Given the description of an element on the screen output the (x, y) to click on. 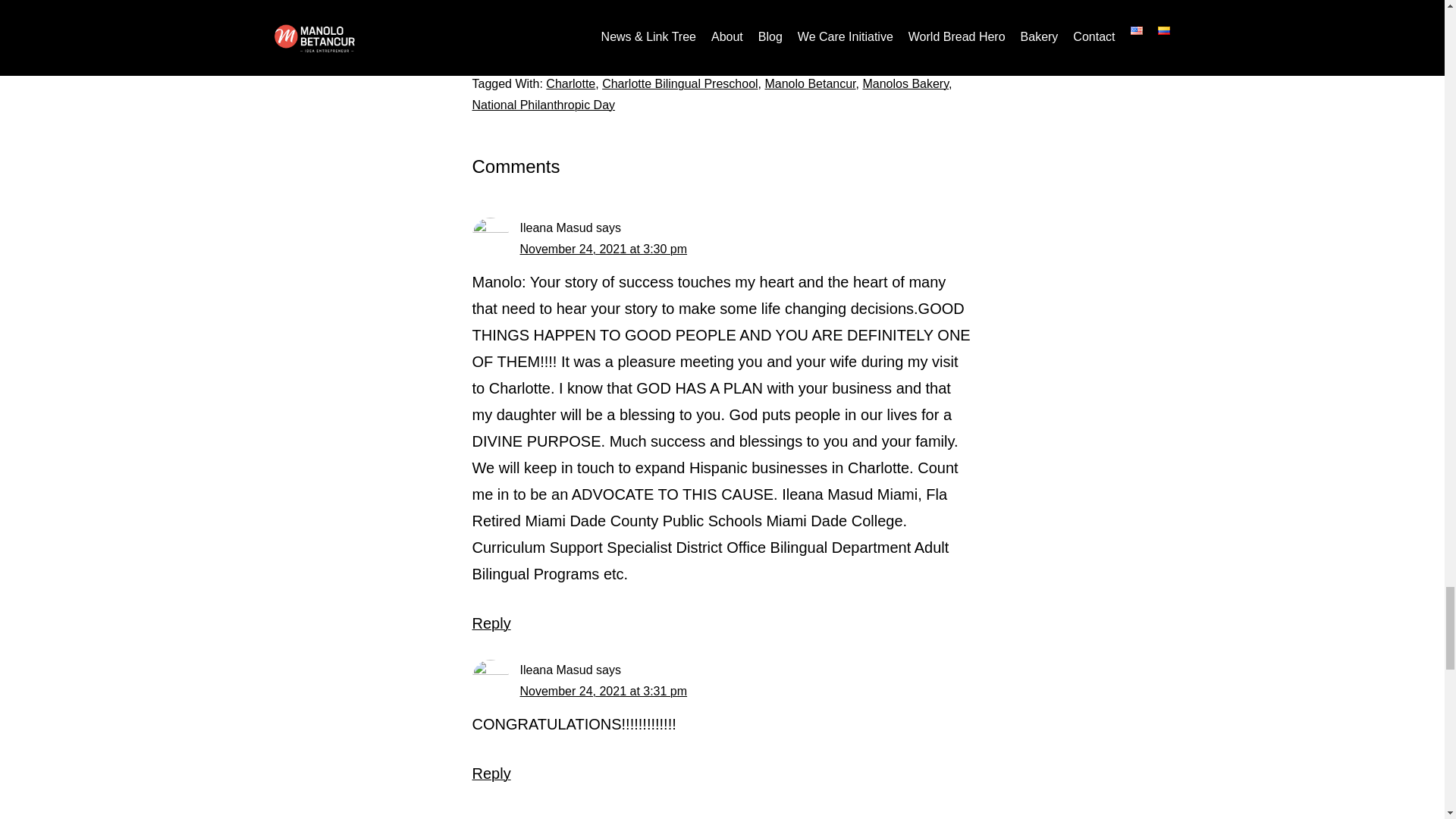
Speech (608, 62)
National Philanthropic Day (542, 104)
November 24, 2021 at 3:30 pm (603, 248)
Charlotte (570, 83)
Reply (491, 623)
November 24, 2021 at 3:31 pm (603, 690)
Charlotte Bilingual Preschool (679, 83)
Reply (491, 773)
Articles (559, 62)
Manolo Betancur (810, 83)
Manolos Bakery (905, 83)
